Given the description of an element on the screen output the (x, y) to click on. 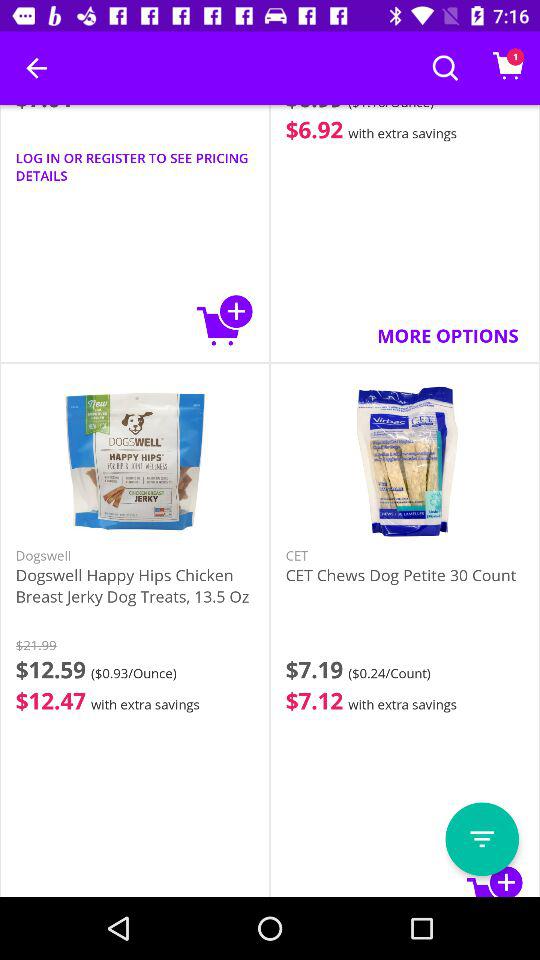
look for more information (482, 839)
